Given the description of an element on the screen output the (x, y) to click on. 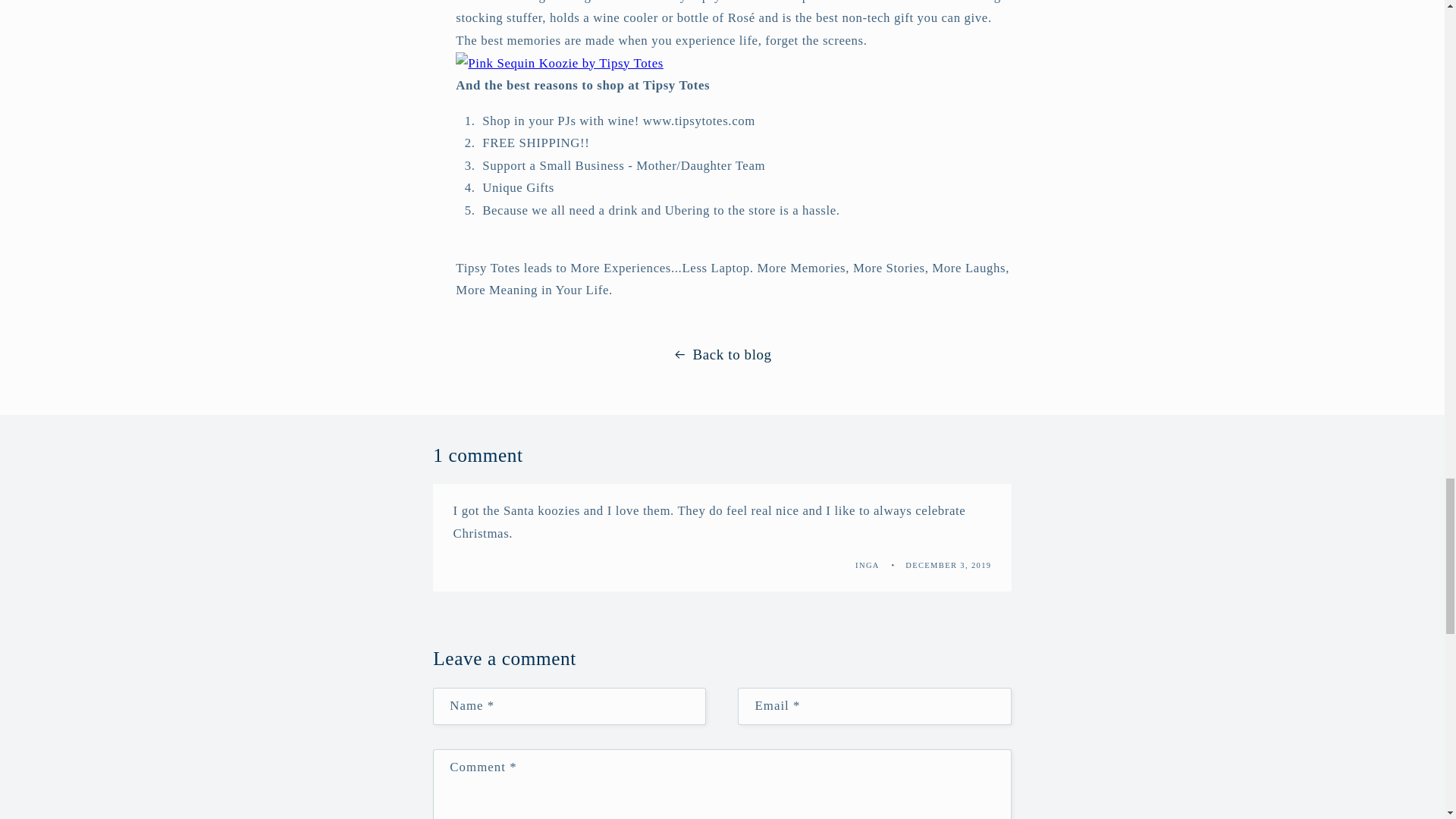
Best Holiday Gifts for Her - Sequin Koozie (732, 63)
